Given the description of an element on the screen output the (x, y) to click on. 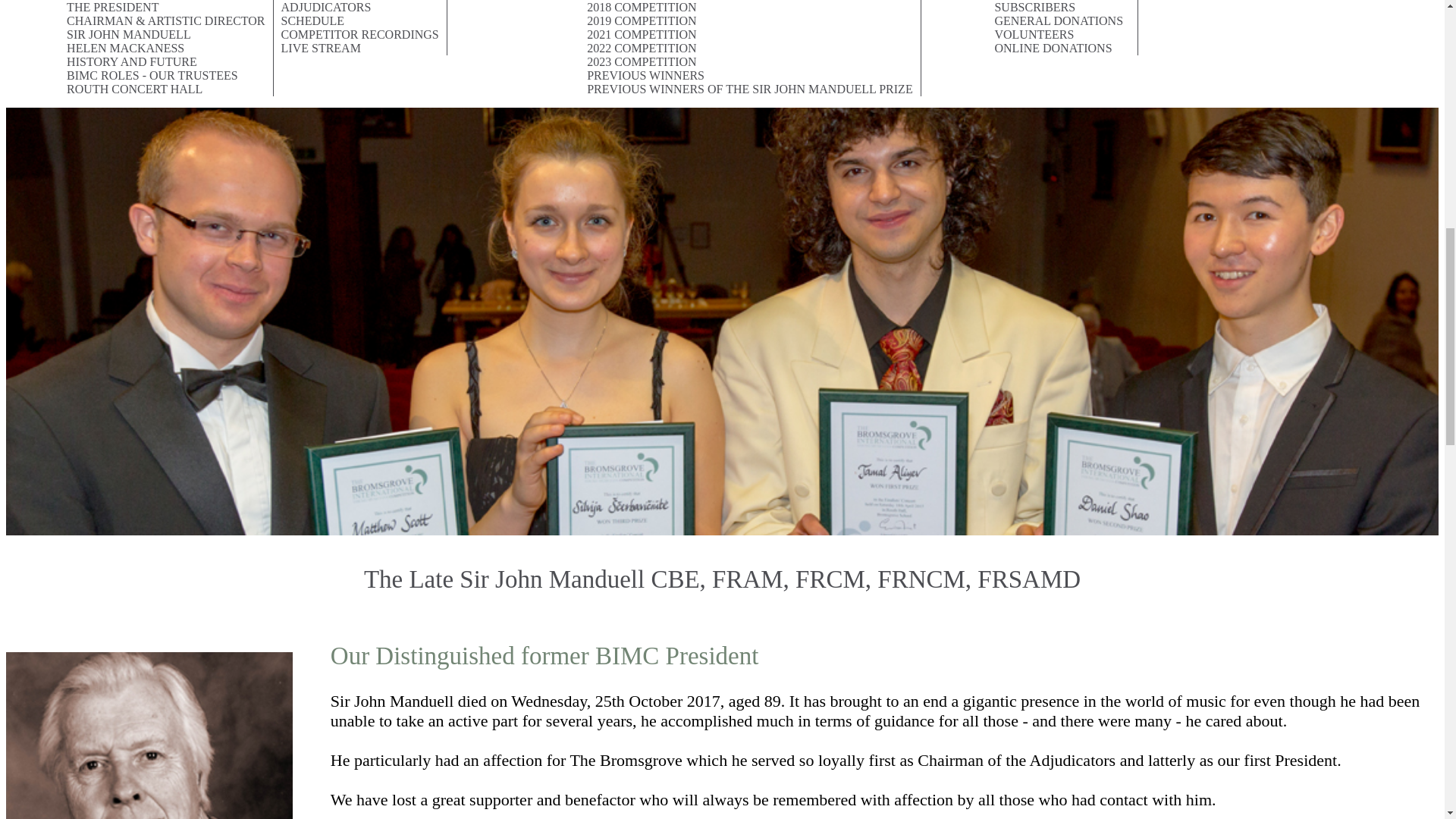
THE PRESIDENT (166, 7)
2023 COMPETITION (750, 61)
BIMC ROLES - OUR TRUSTEES (166, 75)
PREVIOUS WINNERS OF THE SIR JOHN MANDUELL PRIZE (750, 89)
SCHEDULE (359, 20)
2022 COMPETITION (750, 48)
2021 COMPETITION (750, 34)
ROUTH CONCERT HALL (166, 89)
